Given the description of an element on the screen output the (x, y) to click on. 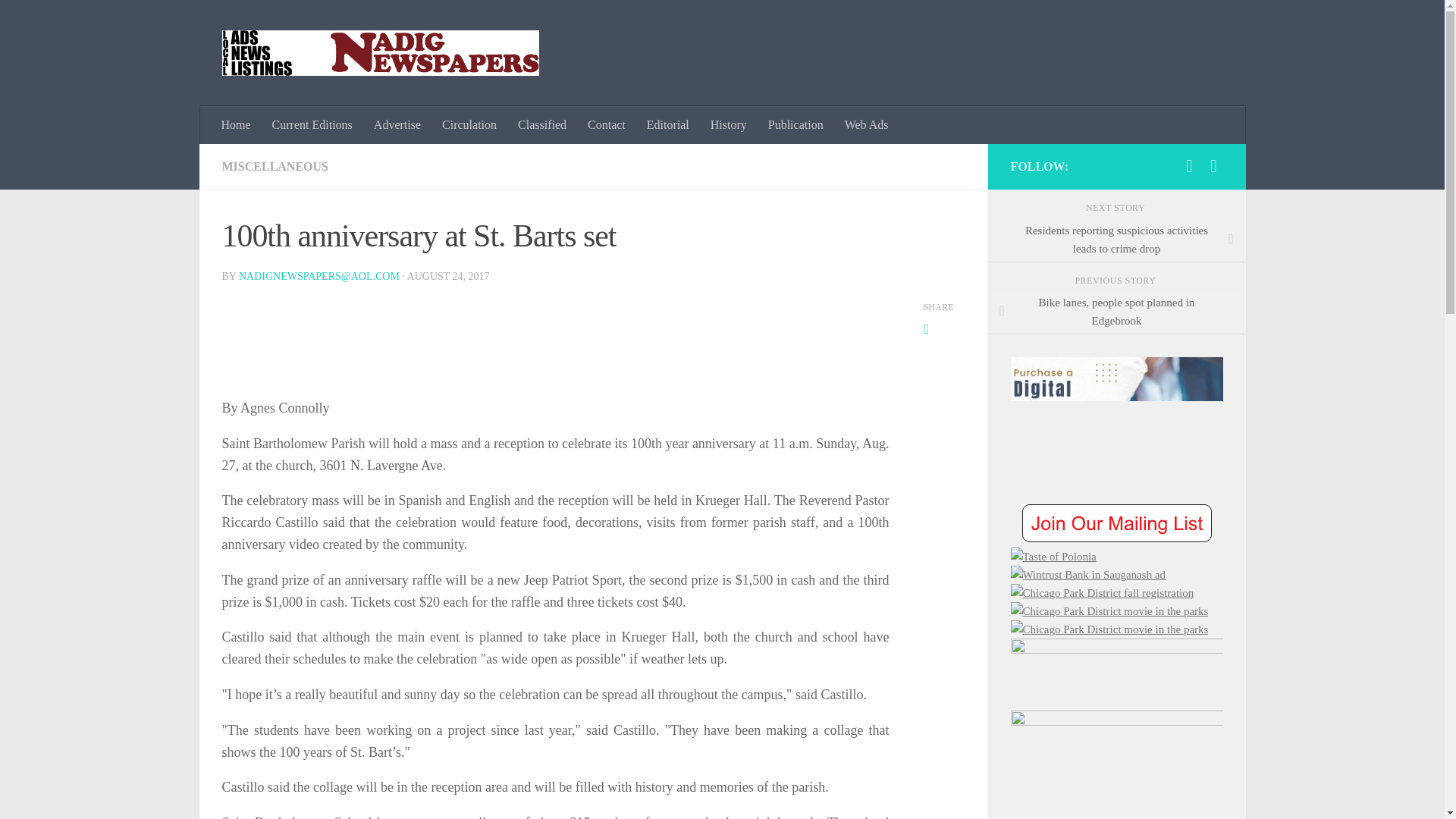
MISCELLANEOUS (274, 165)
Follow us on Facebook (1188, 166)
Follow us on Twitter (1213, 166)
Web Ads (866, 125)
Current Editions (312, 125)
Editorial (668, 125)
Bike lanes, people spot planned in Edgebrook (1115, 311)
Classified (541, 125)
Publication (795, 125)
Advertise (396, 125)
